Given the description of an element on the screen output the (x, y) to click on. 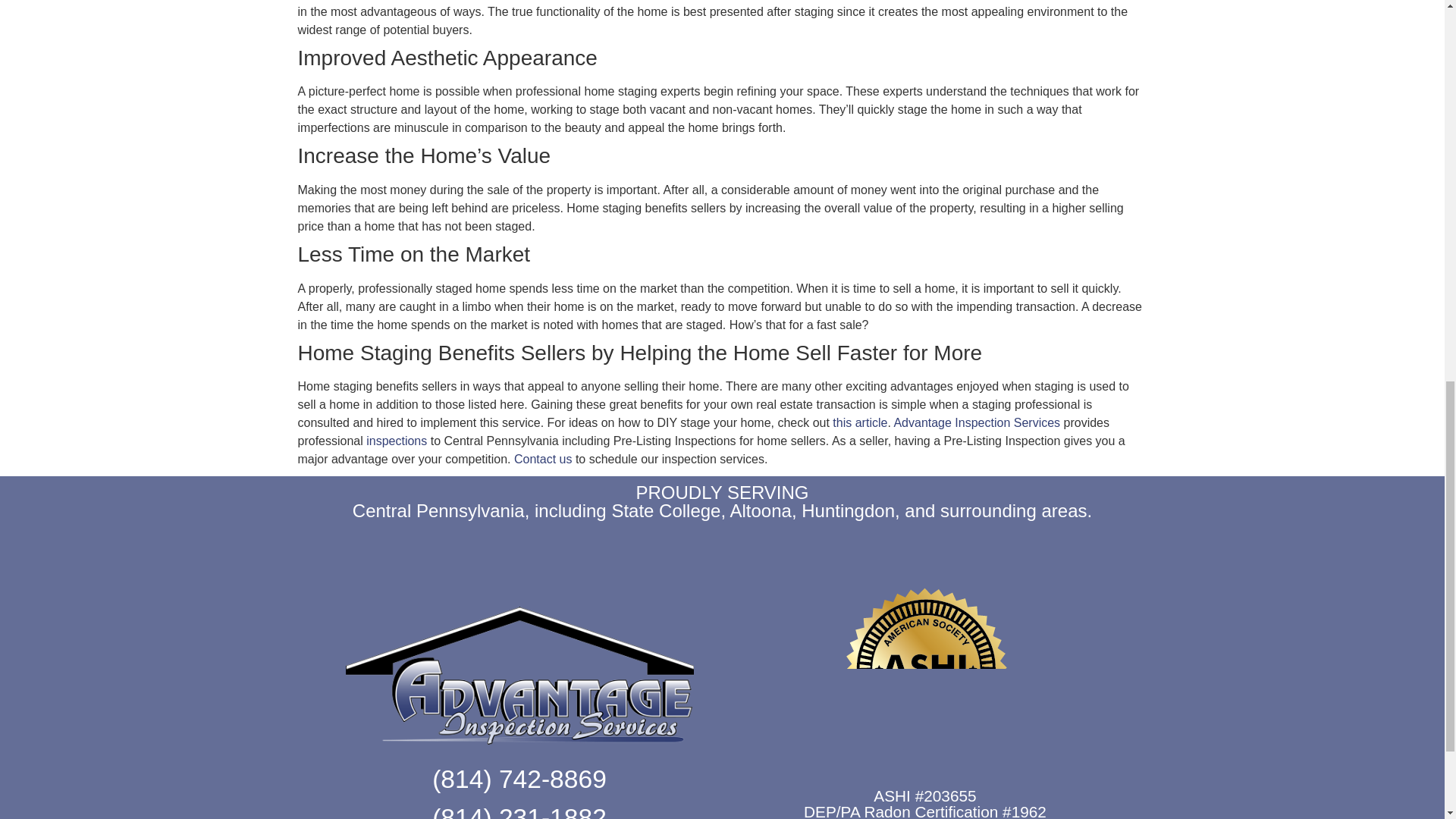
this article (859, 422)
inspections (396, 440)
Contact us (542, 459)
Advantage Inspection Services (976, 422)
